Given the description of an element on the screen output the (x, y) to click on. 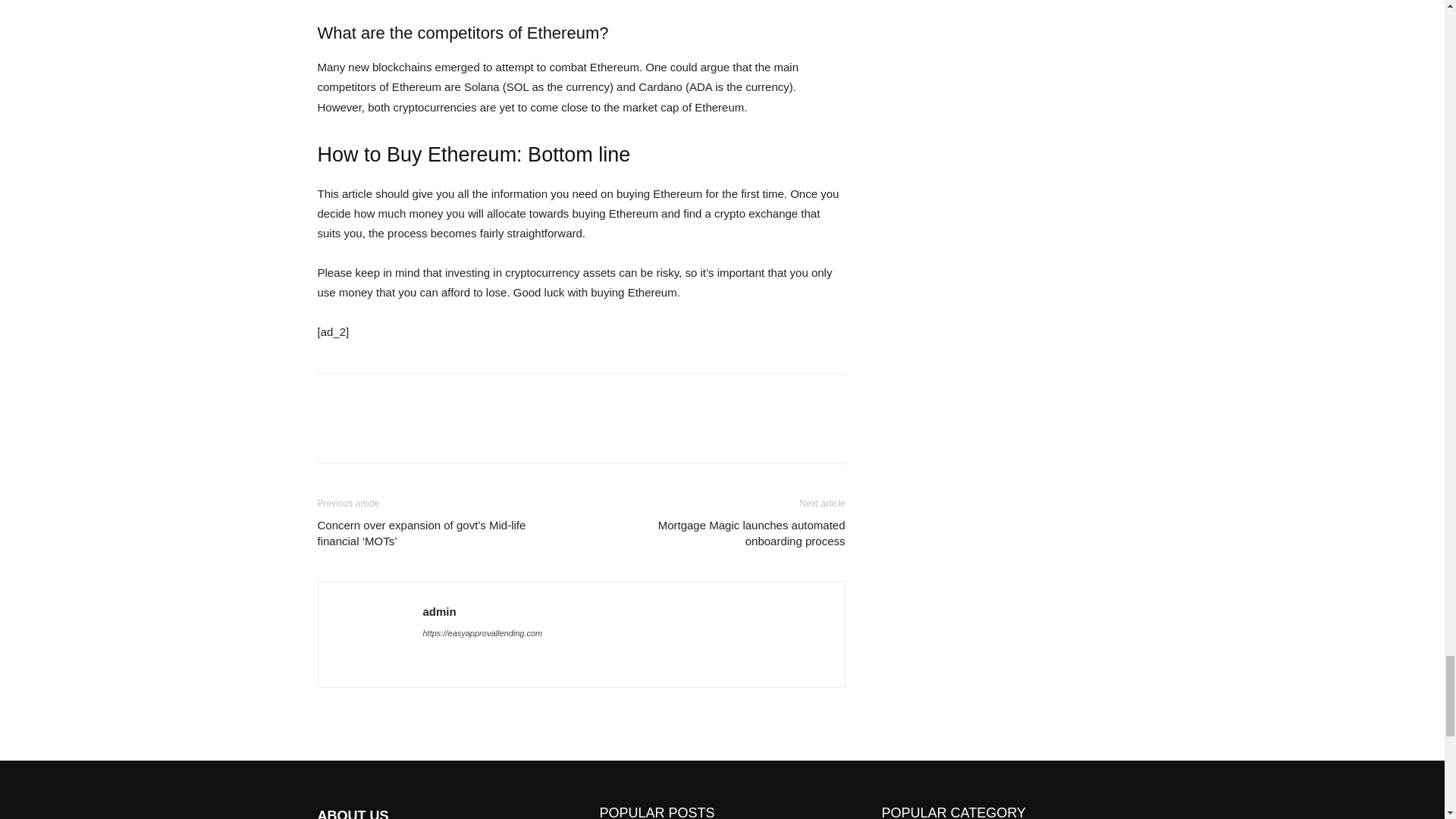
bottomFacebookLike (430, 398)
